Given the description of an element on the screen output the (x, y) to click on. 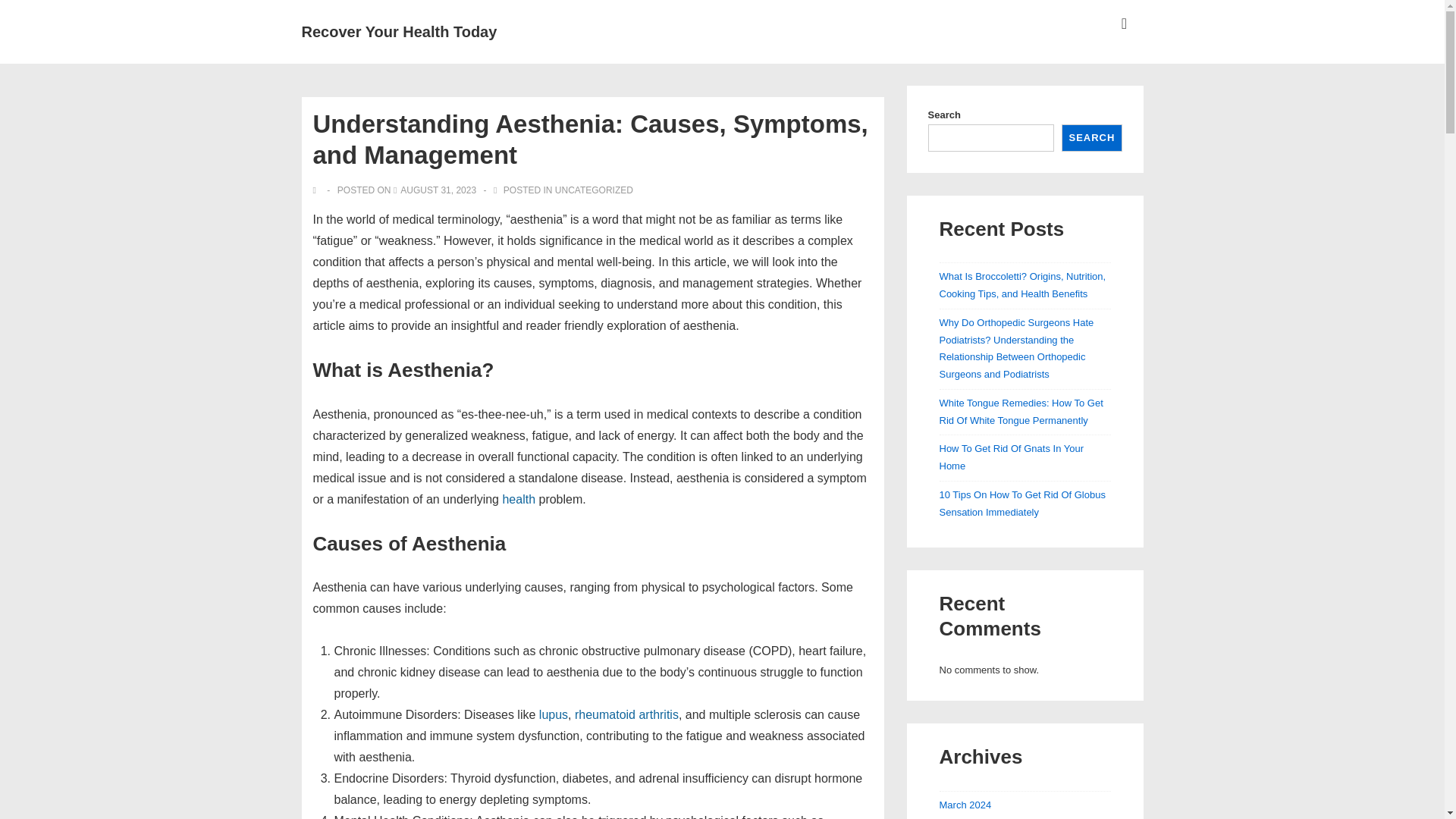
lupus (552, 714)
health (518, 499)
10 Tips On How To Get Rid Of Globus Sensation Immediately (1022, 502)
MENU (1123, 23)
AUGUST 31, 2023 (438, 190)
Understanding Aesthenia: Causes, Symptoms, and Management (438, 190)
March 2024 (965, 804)
View all posts by  (317, 190)
How To Get Rid Of Gnats In Your Home (1011, 457)
UNCATEGORIZED (593, 190)
rheumatoid arthritis (626, 714)
SEARCH (1091, 137)
Recover Your Health Today (399, 31)
